Given the description of an element on the screen output the (x, y) to click on. 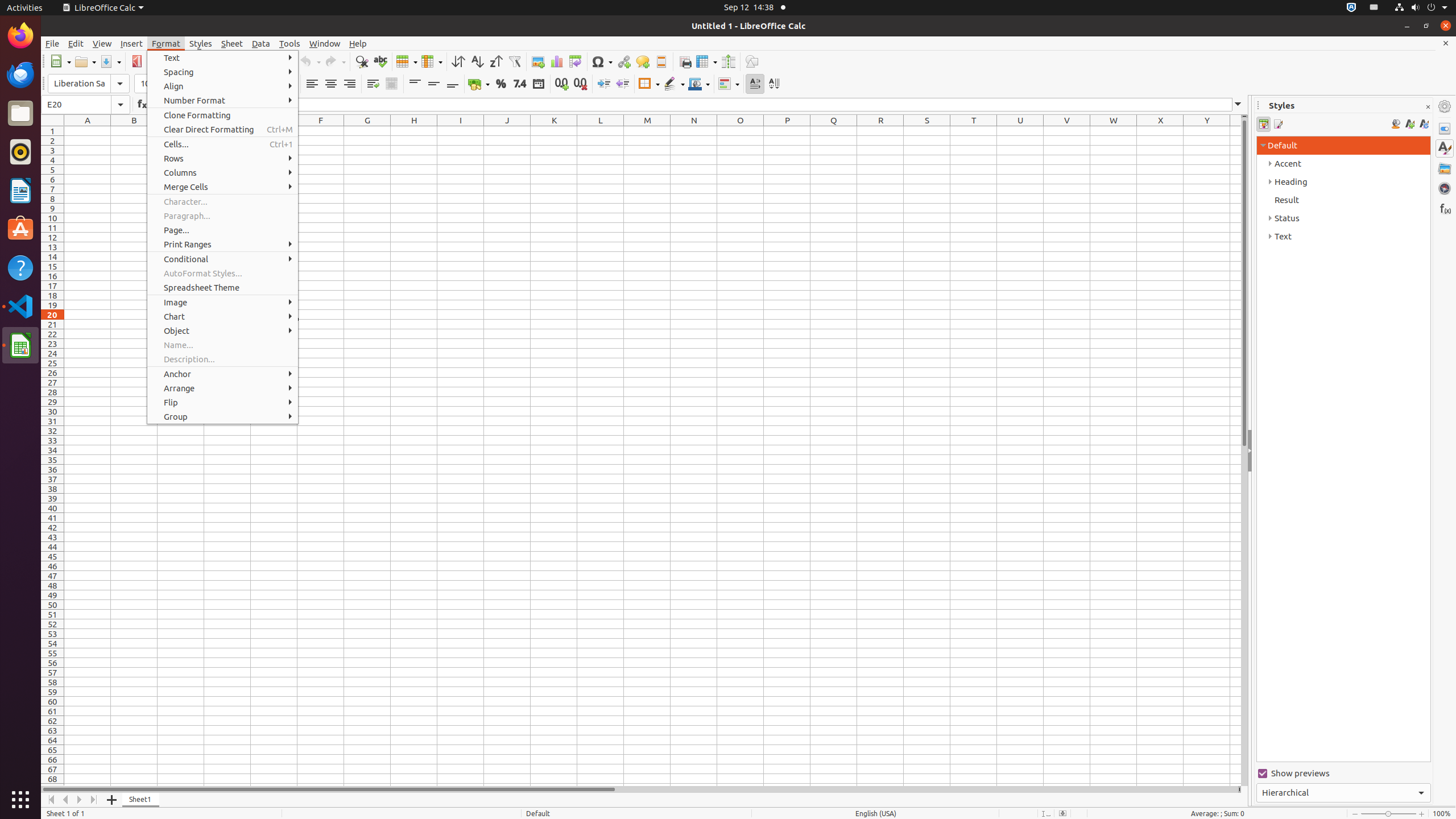
Show previews Element type: check-box (1343, 773)
Properties Element type: radio-button (1444, 128)
Show Applications Element type: toggle-button (20, 799)
Find & Replace Element type: toggle-button (361, 61)
Sort Element type: push-button (457, 61)
